Given the description of an element on the screen output the (x, y) to click on. 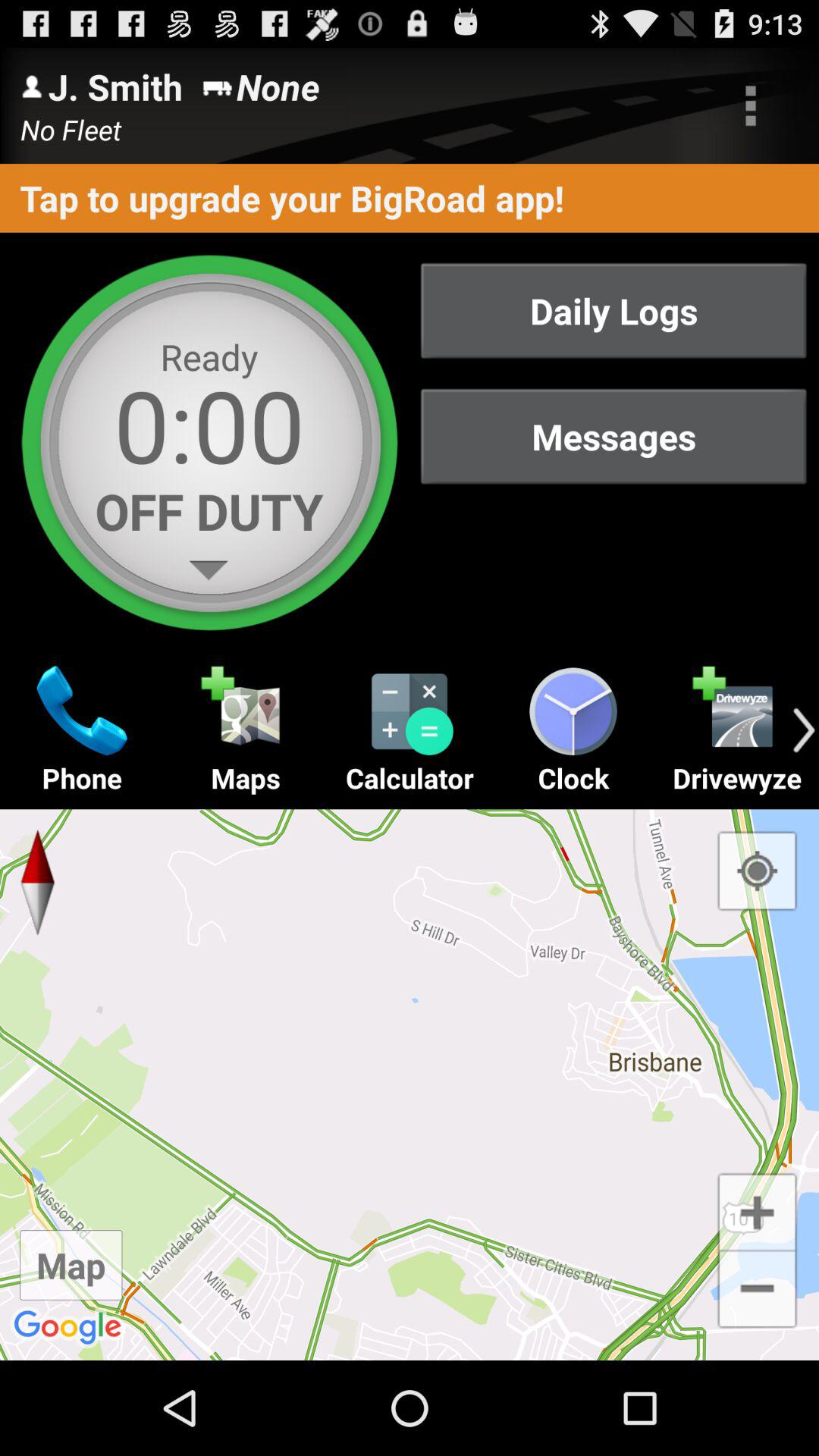
open the item below daily logs item (613, 436)
